Given the description of an element on the screen output the (x, y) to click on. 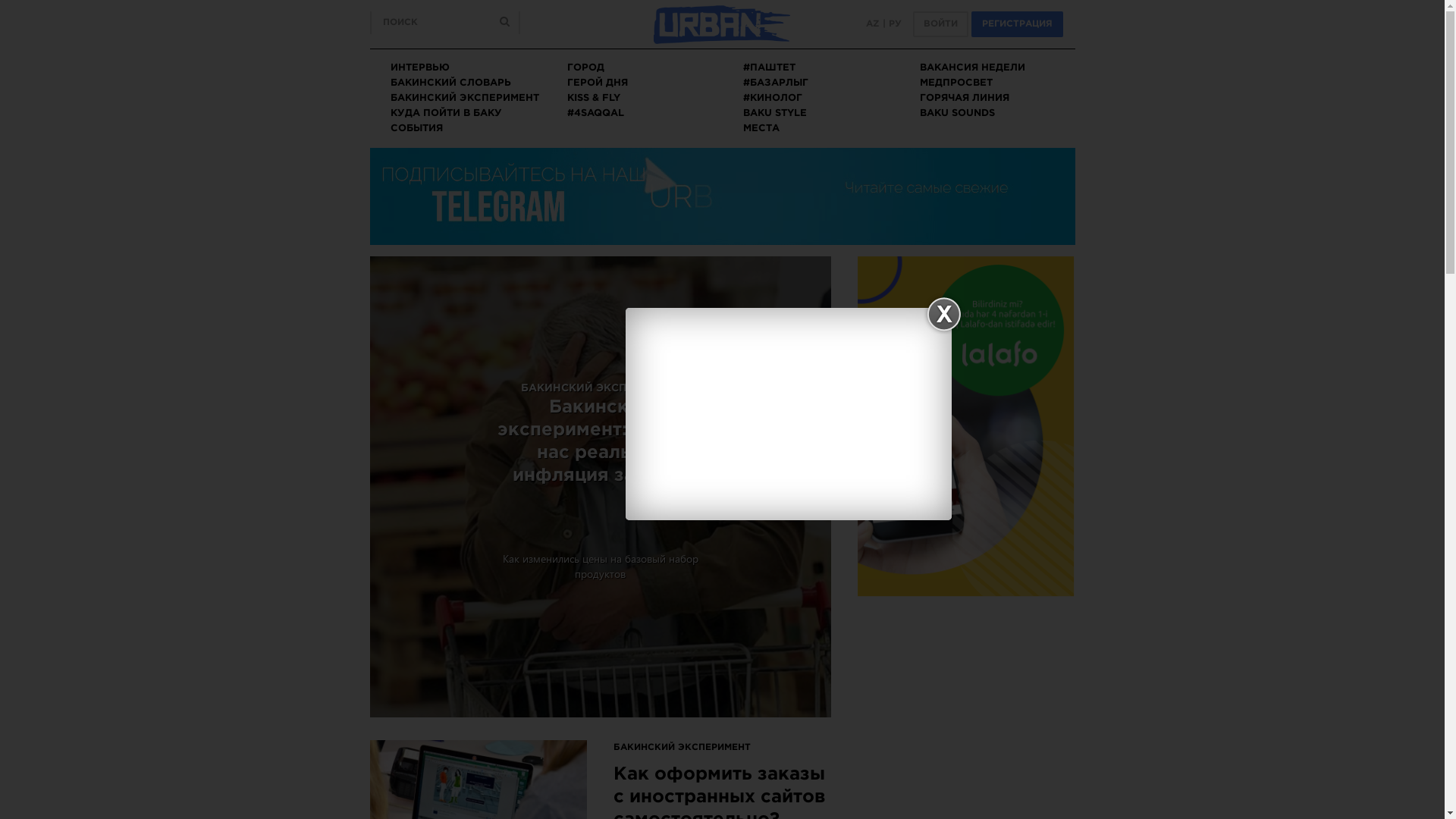
BAKU SOUNDS Element type: text (956, 113)
BAKU STYLE Element type: text (774, 113)
Lalafo Element type: hover (966, 425)
#4SAQQAL Element type: text (595, 113)
AZ Element type: text (872, 23)
KISS & FLY Element type: text (593, 98)
